Given the description of an element on the screen output the (x, y) to click on. 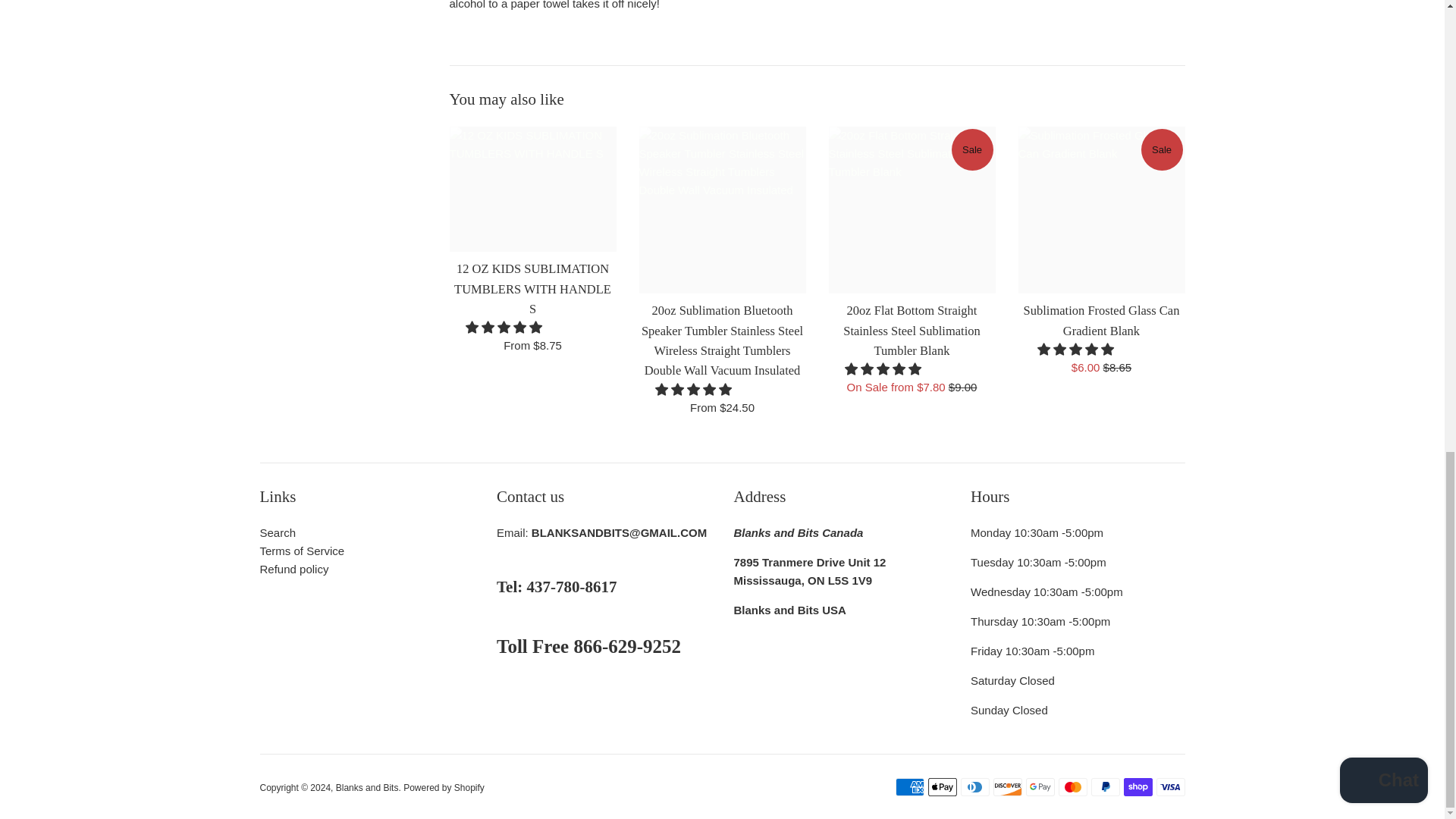
Google Pay (1039, 787)
Sublimation Frosted Glass Can Gradient Blank (1101, 209)
Mastercard (1072, 787)
Discover (1007, 787)
Shop Pay (1138, 787)
Diners Club (973, 787)
American Express (909, 787)
12 OZ KIDS SUBLIMATION TUMBLERS WITH HANDLE S (531, 188)
PayPal (1104, 787)
